Given the description of an element on the screen output the (x, y) to click on. 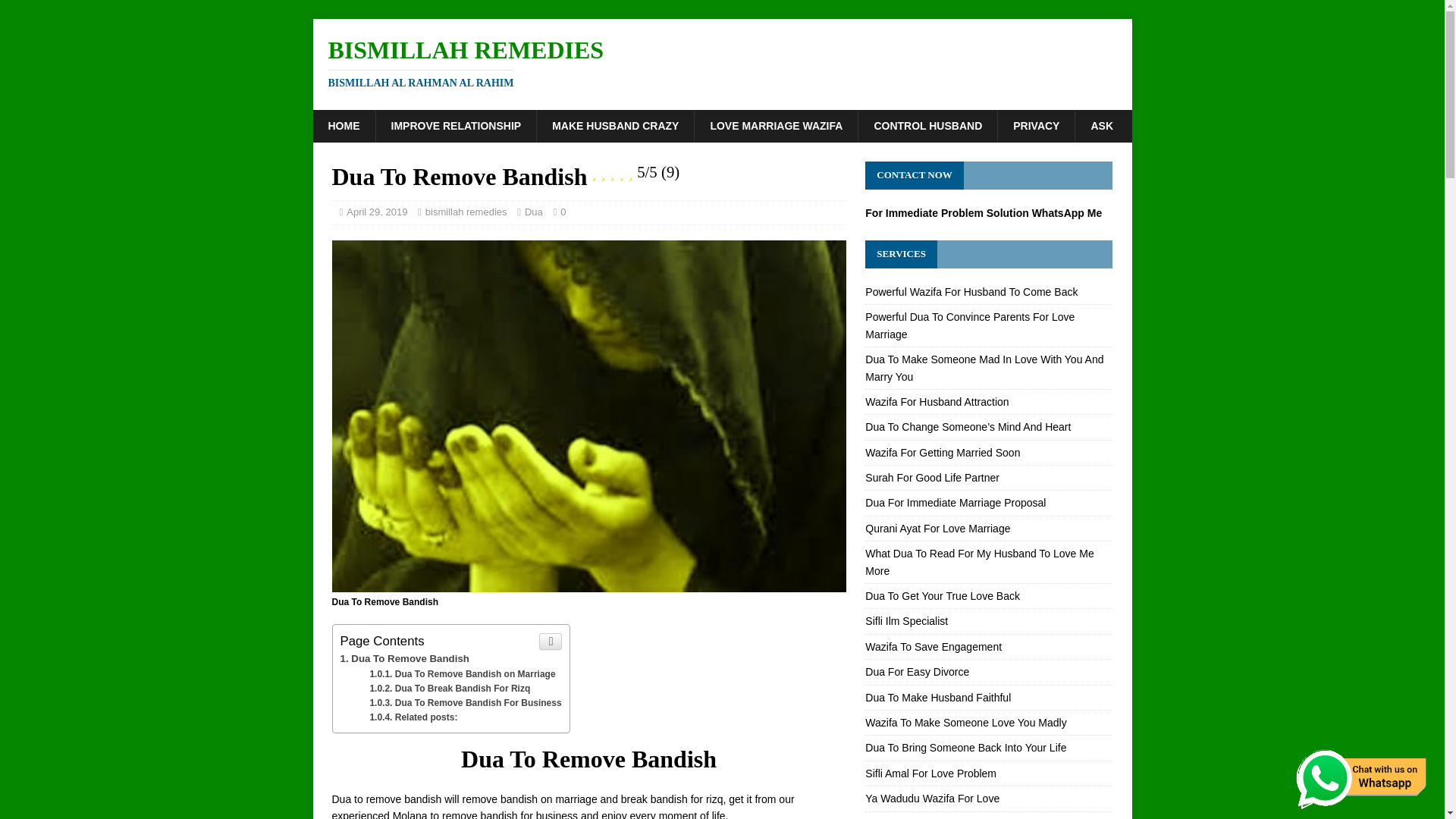
bismillah remedies (465, 211)
Dua To Remove Bandish (403, 658)
Wazifa For Husband Attraction (936, 401)
Wazifa For Getting Married Soon (942, 452)
Related posts: (413, 716)
Dua To Break Bandish For Rizq (449, 688)
IMPROVE RELATIONSHIP (721, 62)
April 29, 2019 (454, 125)
Dua To Remove Bandish (376, 211)
Dua For Immediate Marriage Proposal (403, 658)
Dua To Remove Bandish (954, 502)
HOME (721, 62)
Powerful Dua To Convince Parents For Love Marriage (343, 125)
